Given the description of an element on the screen output the (x, y) to click on. 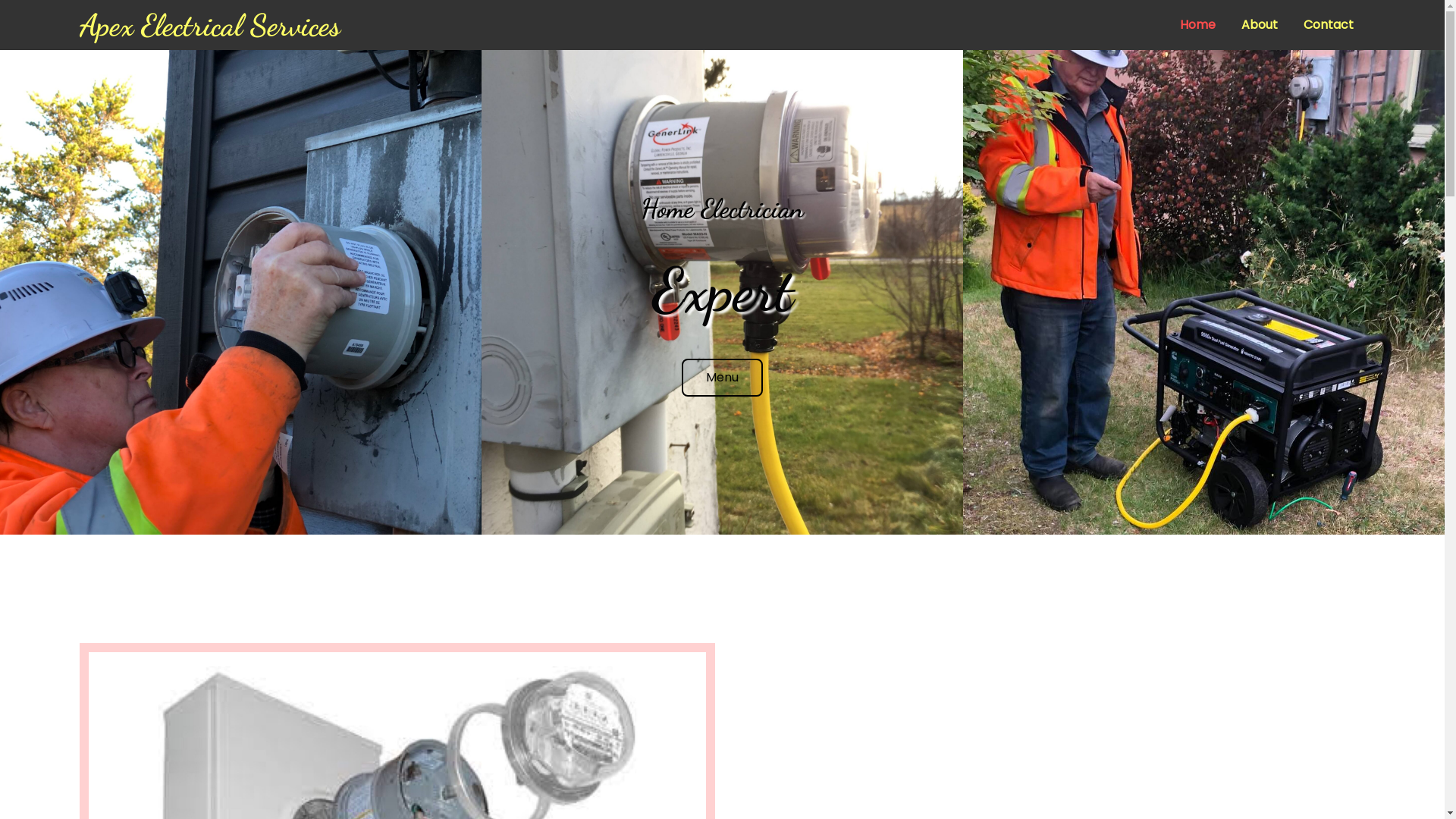
About Element type: text (1259, 24)
Menu Element type: text (721, 377)
Contact Element type: text (1328, 24)
Home Element type: text (1197, 24)
Apex Electrical Services Element type: text (396, 24)
